Given the description of an element on the screen output the (x, y) to click on. 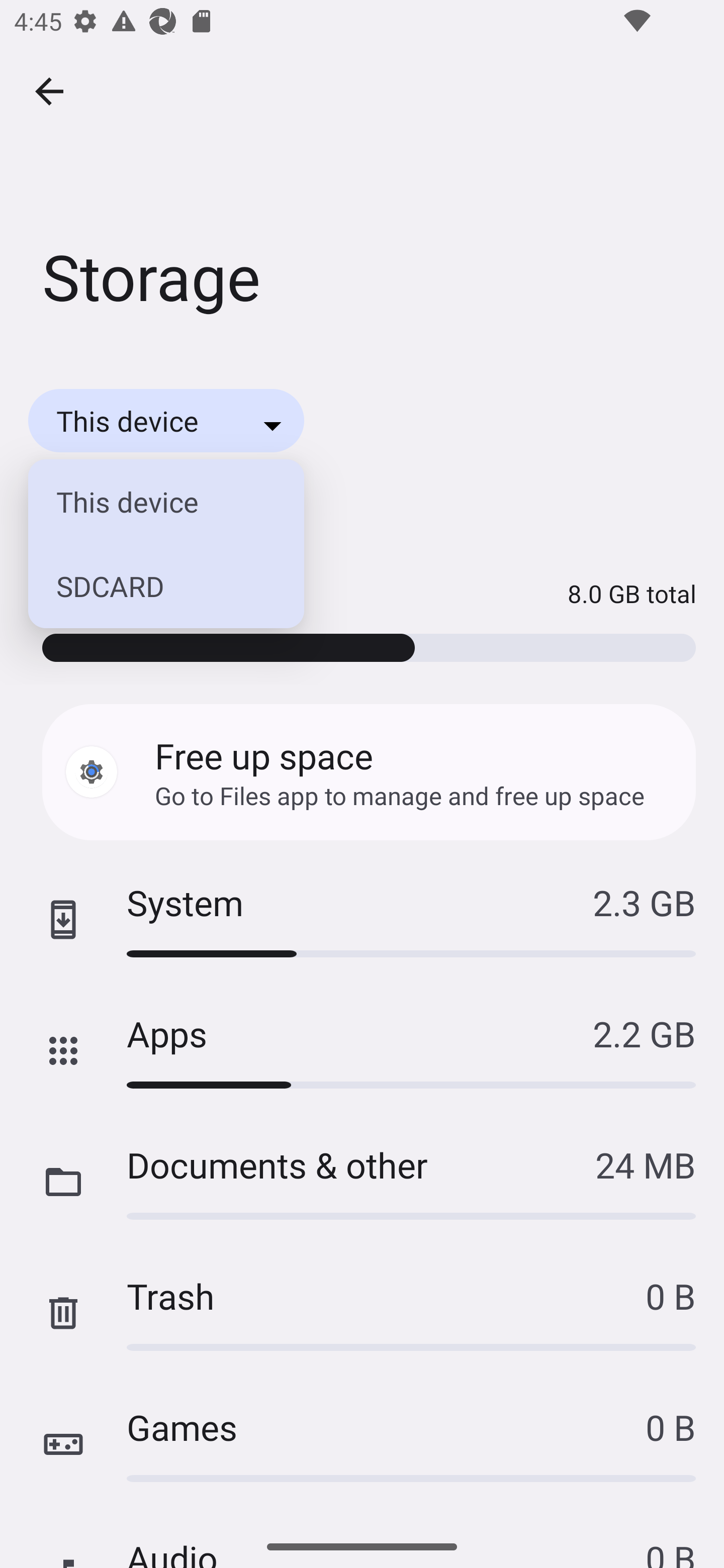
This device (155, 501)
SDCARD (155, 586)
